Given the description of an element on the screen output the (x, y) to click on. 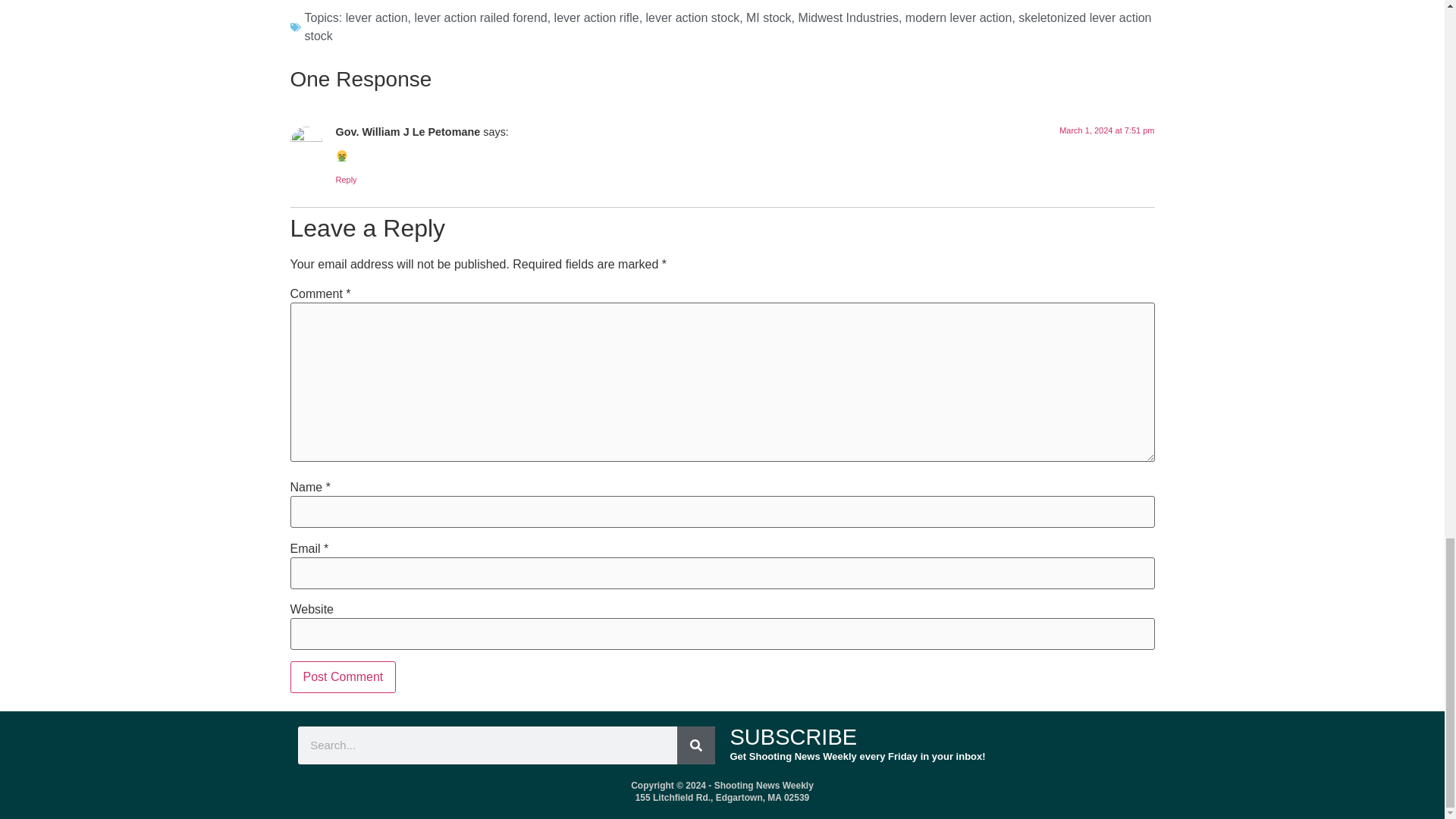
Post Comment (342, 676)
